Given the description of an element on the screen output the (x, y) to click on. 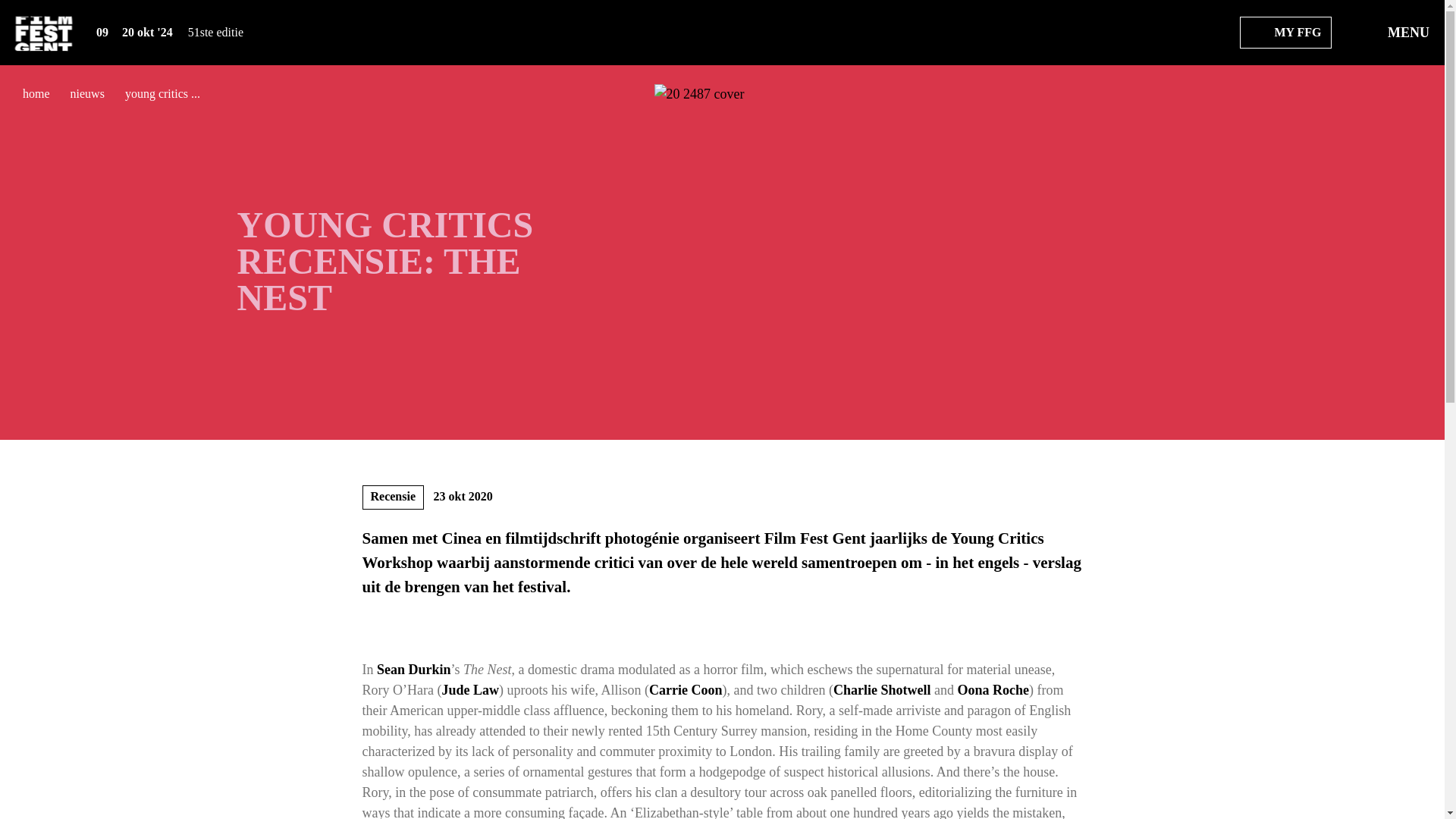
MY FFG (1285, 32)
MENU (1395, 32)
